Given the description of an element on the screen output the (x, y) to click on. 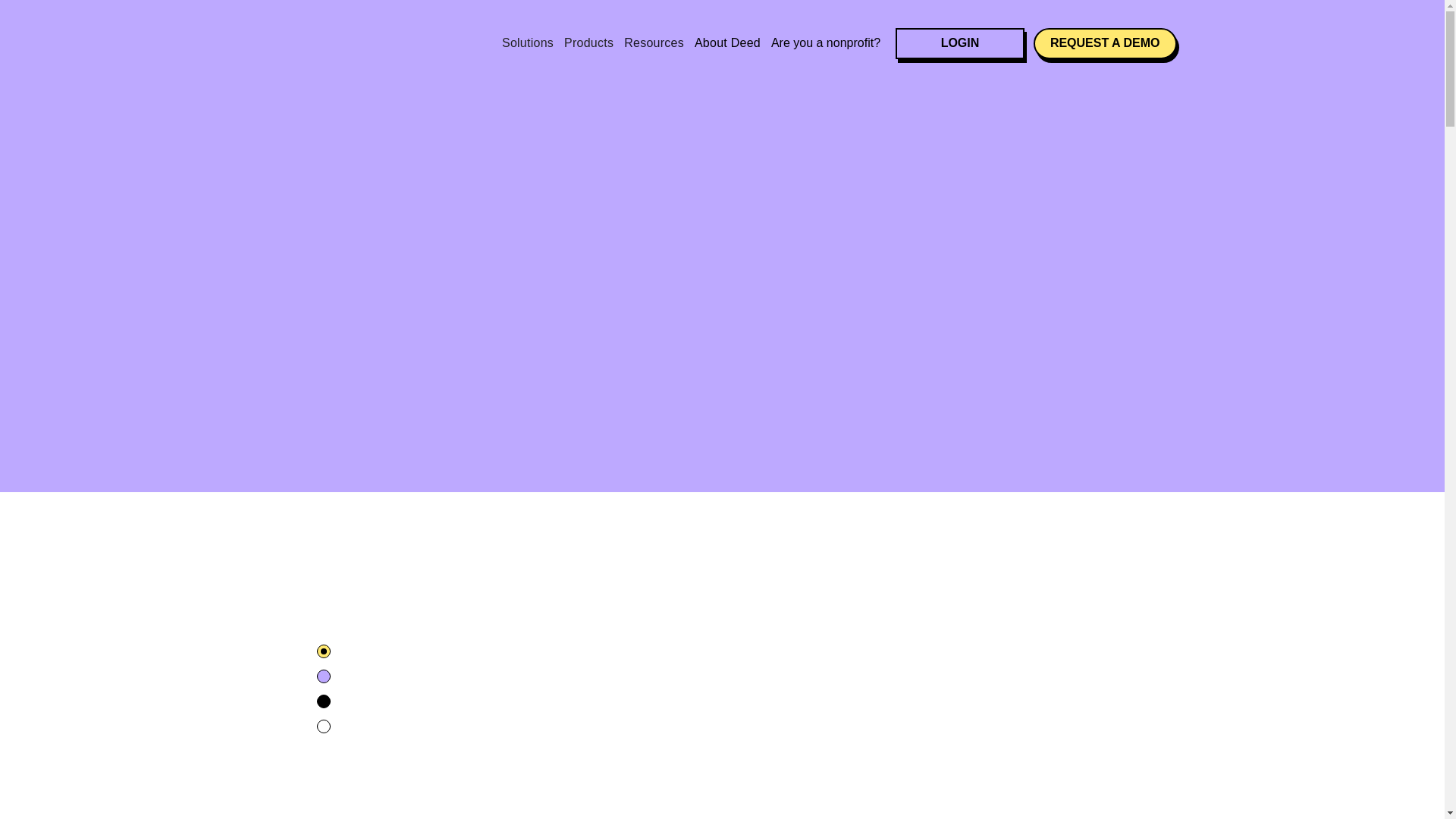
Resources (654, 50)
About Deed (727, 42)
REQUEST A DEMO (1104, 42)
Are you a nonprofit? (825, 42)
